Given the description of an element on the screen output the (x, y) to click on. 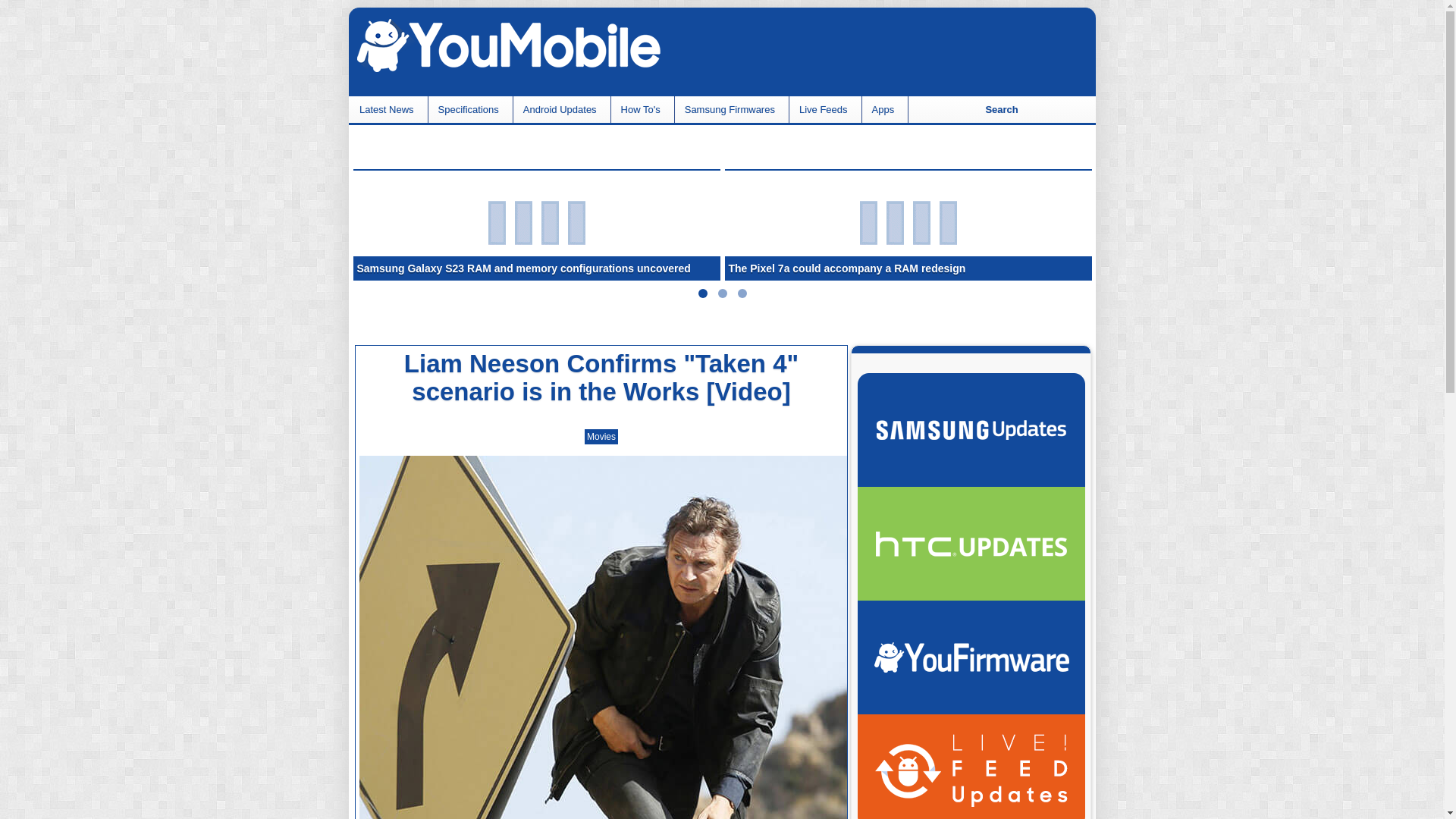
Live Feeds (825, 109)
Android Updates (561, 109)
All Android Updates (970, 766)
Search (1001, 109)
Apps (884, 109)
How To's (642, 109)
Latest News (388, 109)
Specifications (470, 109)
Samsung Firmwares (731, 109)
